Given the description of an element on the screen output the (x, y) to click on. 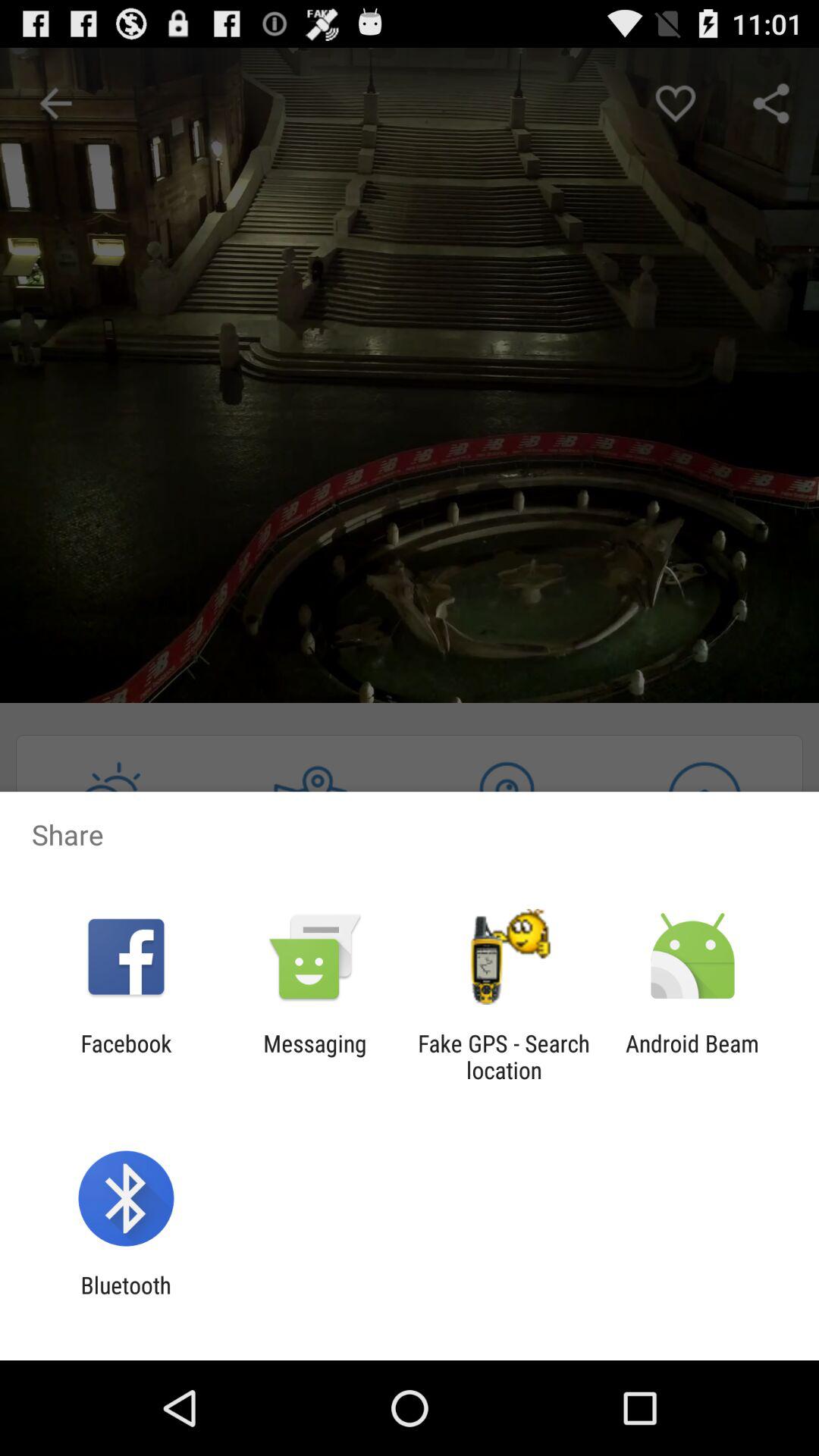
open app at the bottom right corner (692, 1056)
